Given the description of an element on the screen output the (x, y) to click on. 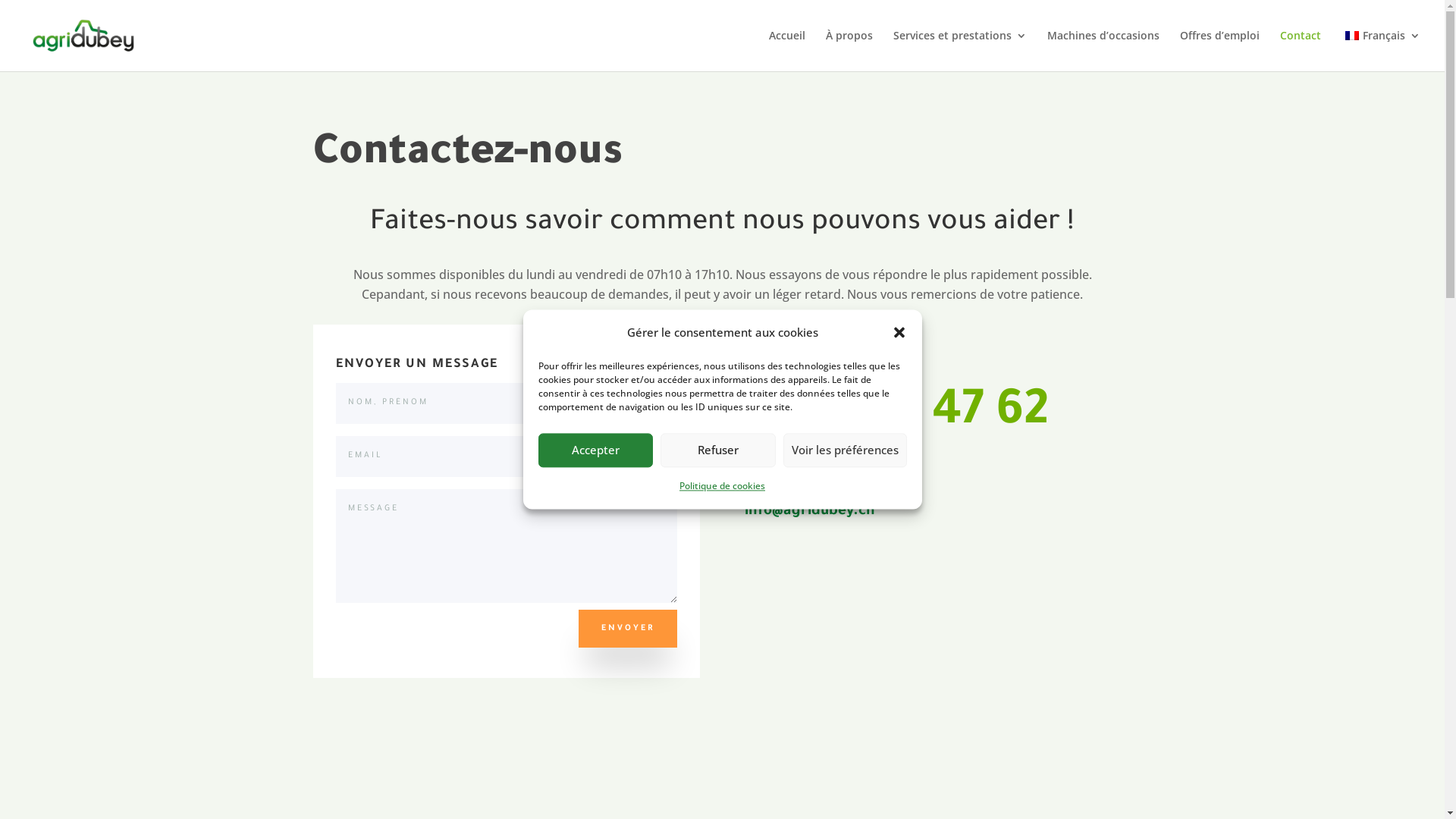
026 662 47 62 Element type: text (896, 414)
Accepter Element type: text (595, 450)
Accueil Element type: text (786, 50)
ENVOYER Element type: text (627, 628)
Contact Element type: text (1300, 50)
Refuser Element type: text (717, 450)
Politique de cookies Element type: text (722, 486)
Services et prestations Element type: text (959, 50)
